Given the description of an element on the screen output the (x, y) to click on. 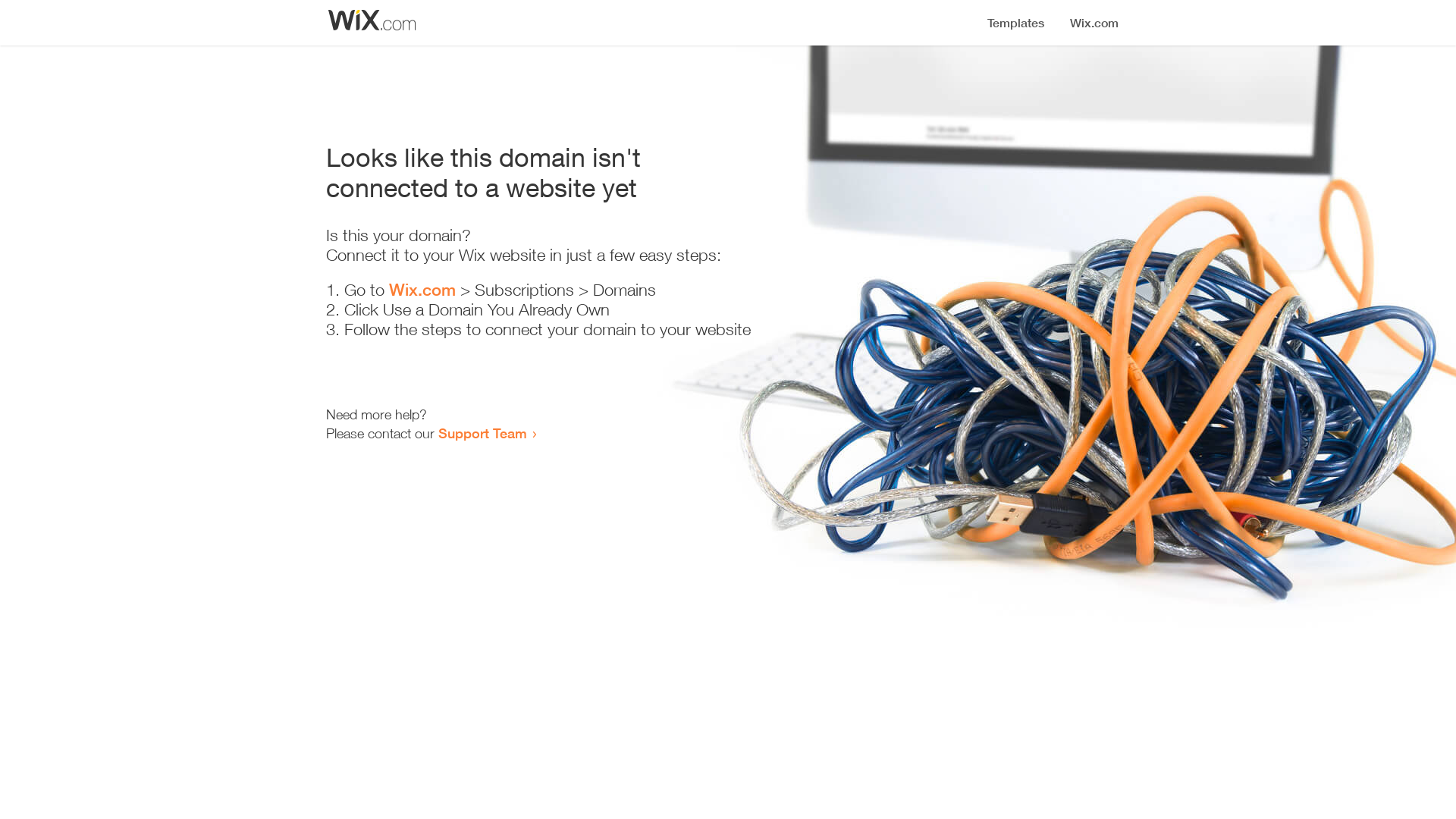
Wix.com Element type: text (422, 289)
Support Team Element type: text (482, 432)
